Given the description of an element on the screen output the (x, y) to click on. 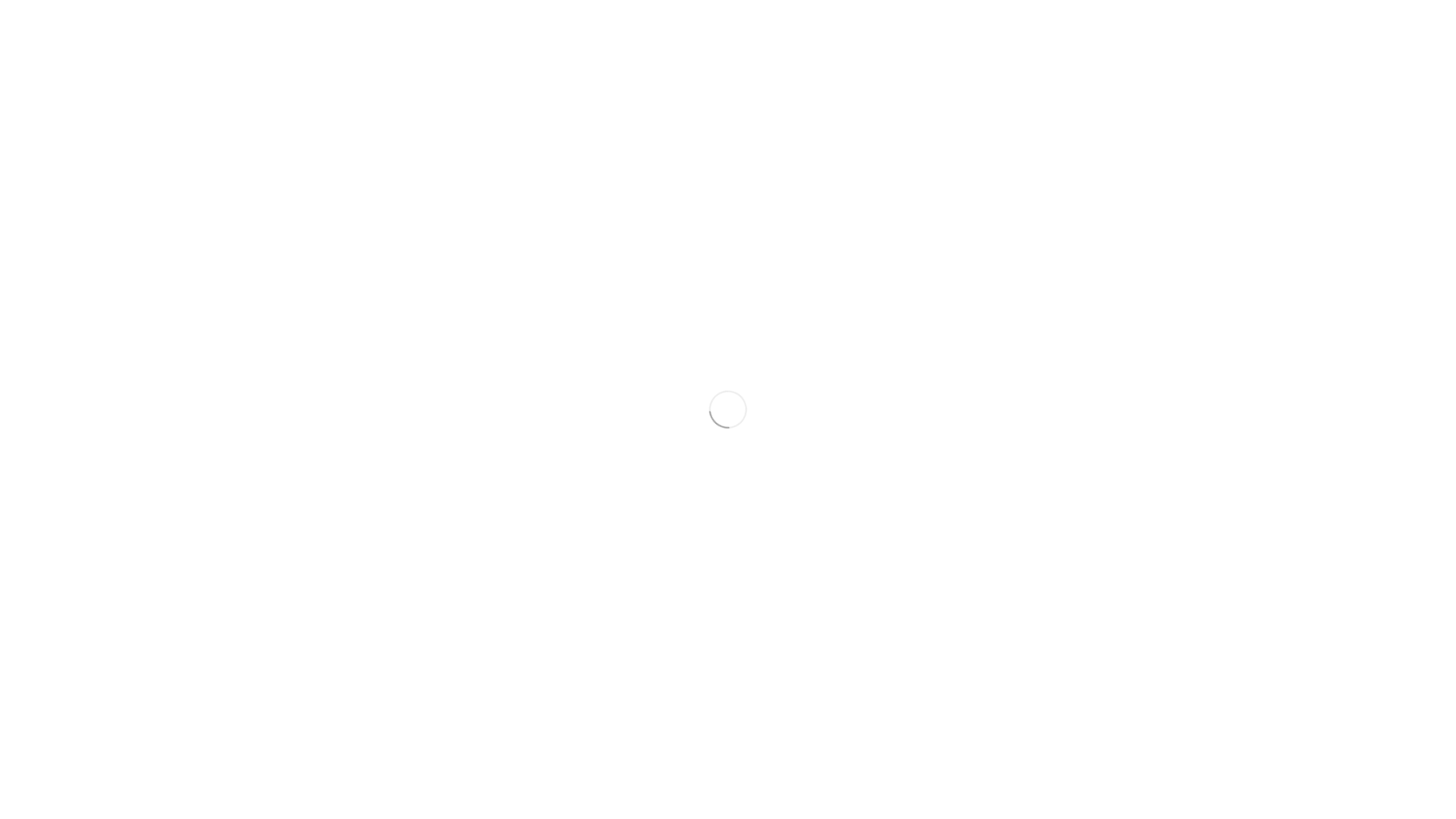
Support Element type: text (984, 252)
Cooking Accessories Element type: text (546, 596)
Built-In Dishwashers Element type: text (780, 382)
Fully Integrated Dishwashers Element type: text (801, 328)
Ovens Element type: text (508, 328)
PERFEKT GLIDE-36-2 Element type: text (192, 96)
Warranty Information Element type: text (1016, 489)
Warranty Element type: text (1370, 34)
Contact Us Element type: text (991, 382)
Home Element type: text (951, 34)
Cooktops Element type: text (517, 382)
Dishwashers Element type: text (762, 252)
Microwaves & Trim Kits Element type: text (551, 489)
Cooking Element type: text (514, 252)
Contact Us Element type: text (1296, 34)
Find A Dealer Element type: text (1209, 34)
Kitchen Element type: text (1081, 34)
Warming Drawers Element type: text (537, 542)
The AEG Story Element type: text (1000, 328)
About Element type: text (1138, 34)
View page Element type: text (147, 126)
Rangehoods Element type: text (524, 435)
Taste Hub Element type: text (1014, 34)
Find A Dealer Element type: text (996, 435)
